Given the description of an element on the screen output the (x, y) to click on. 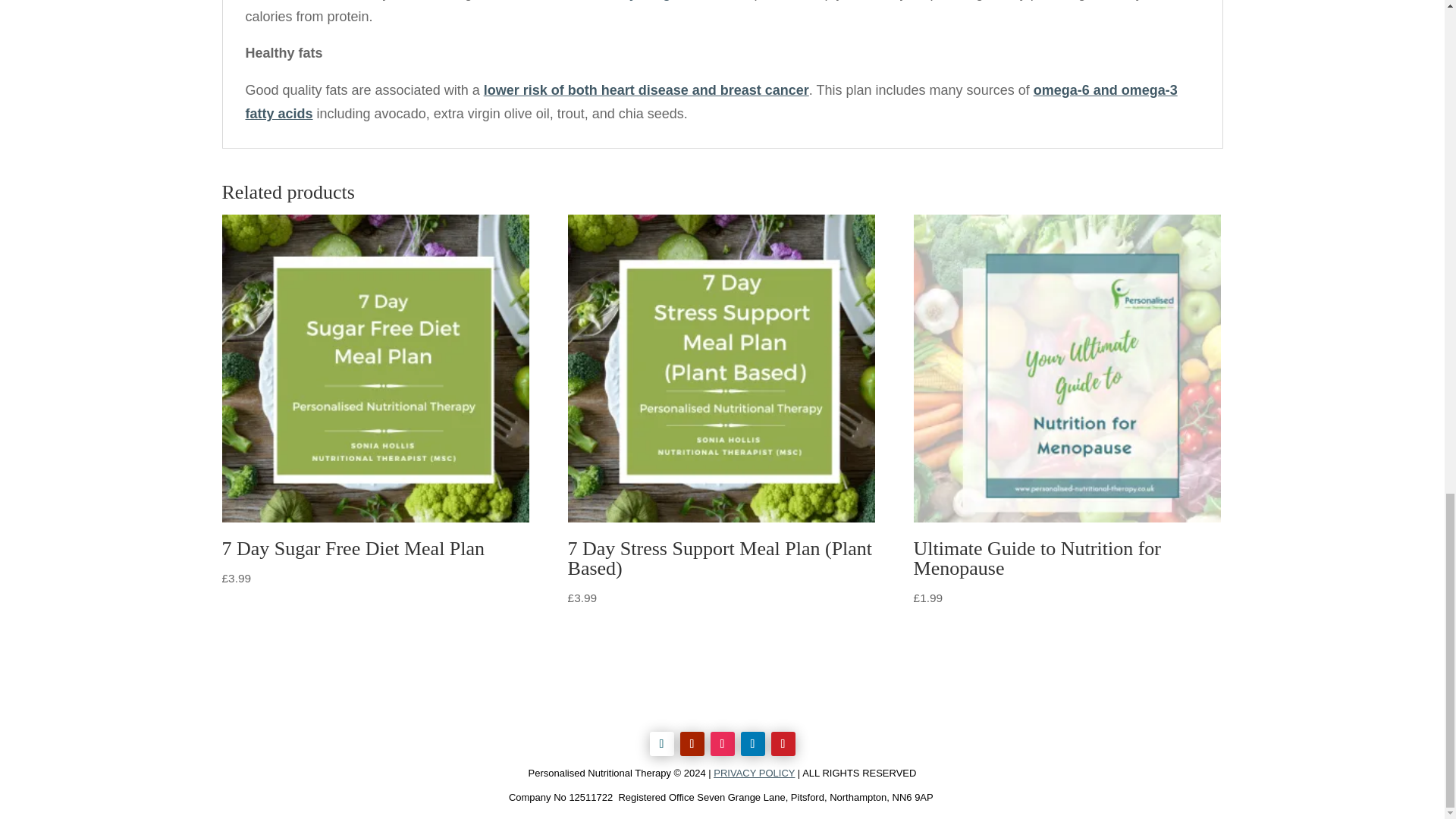
Follow on Instagram (721, 743)
Follow on Youtube (691, 743)
Follow on Pinterest (782, 743)
Follow on Facebook (660, 743)
Follow on LinkedIn (751, 743)
